Given the description of an element on the screen output the (x, y) to click on. 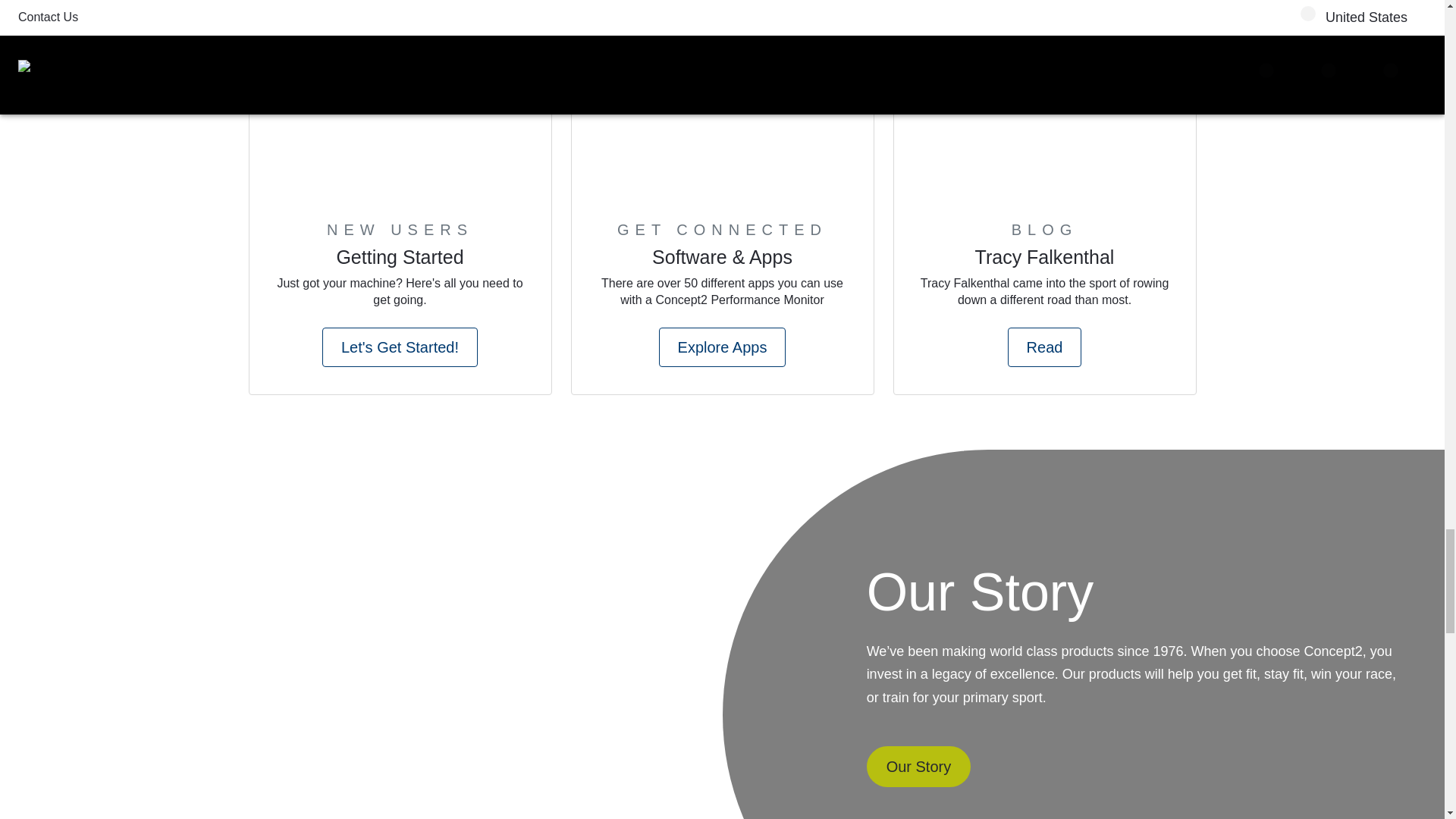
Our Story (918, 766)
Oar blade shown above water (1044, 124)
Explore Apps (722, 346)
Let's Get Started! (399, 346)
Read (1044, 346)
Tracy Falkenthal (1045, 260)
Getting Started (399, 260)
